Given the description of an element on the screen output the (x, y) to click on. 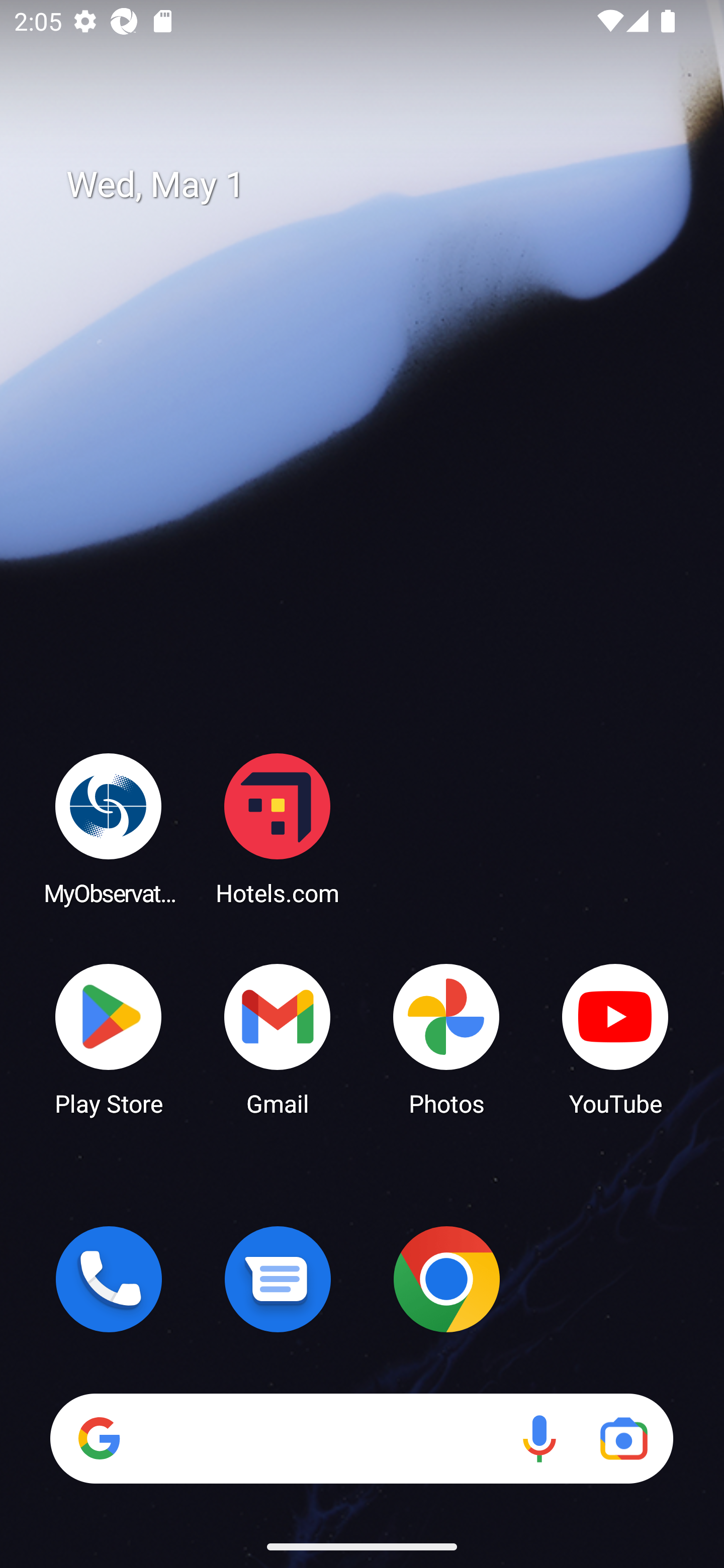
Wed, May 1 (375, 184)
MyObservatory (108, 828)
Hotels.com (277, 828)
Play Store (108, 1038)
Gmail (277, 1038)
Photos (445, 1038)
YouTube (615, 1038)
Phone (108, 1279)
Messages (277, 1279)
Chrome (446, 1279)
Search Voice search Google Lens (361, 1438)
Voice search (539, 1438)
Google Lens (623, 1438)
